Given the description of an element on the screen output the (x, y) to click on. 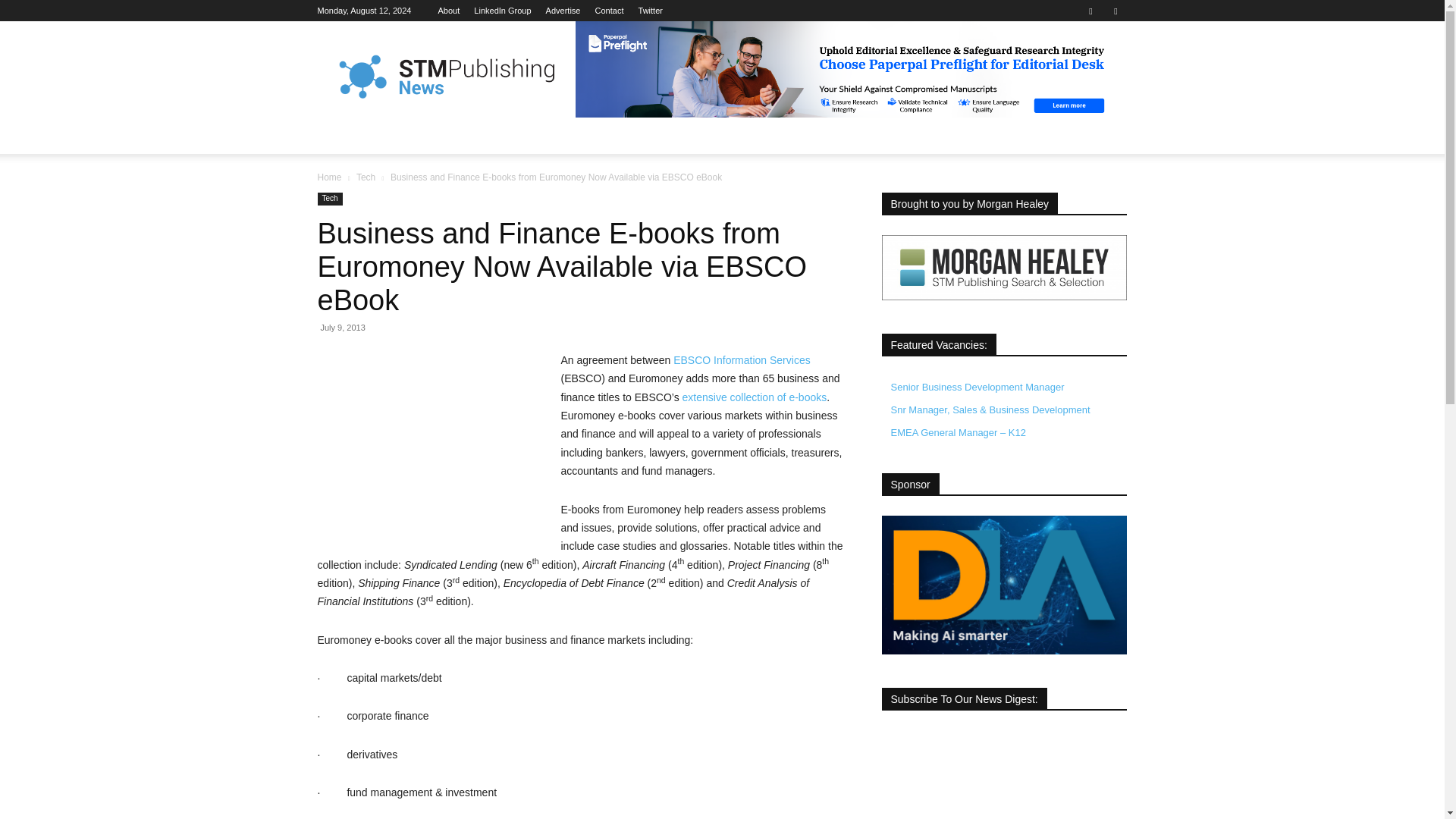
FEATURED (405, 135)
LinkedIn (502, 10)
About (449, 10)
Advertise (563, 10)
Twitter (1114, 10)
LinkedIn Group (502, 10)
Linkedin (1090, 10)
Twitter (650, 10)
HOME (342, 135)
Contact (609, 10)
